Given the description of an element on the screen output the (x, y) to click on. 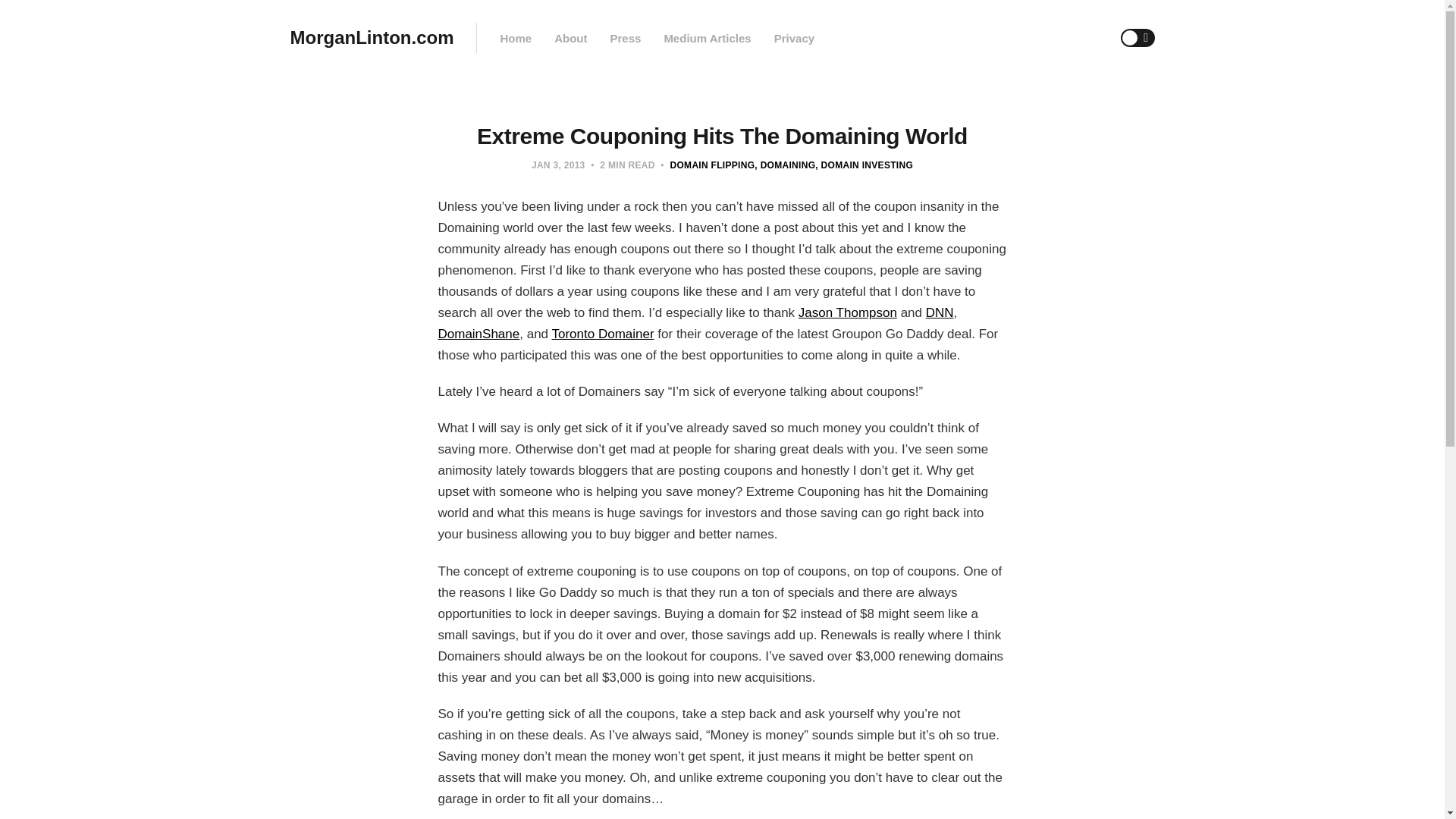
Jason Thompson (846, 312)
DNN (939, 312)
DomainShane (478, 333)
Press (625, 38)
DOMAINING (784, 164)
Domain Investing (863, 164)
Domaining (784, 164)
DOMAIN INVESTING (863, 164)
MorganLinton.com (370, 37)
Domain Flipping (712, 164)
